Given the description of an element on the screen output the (x, y) to click on. 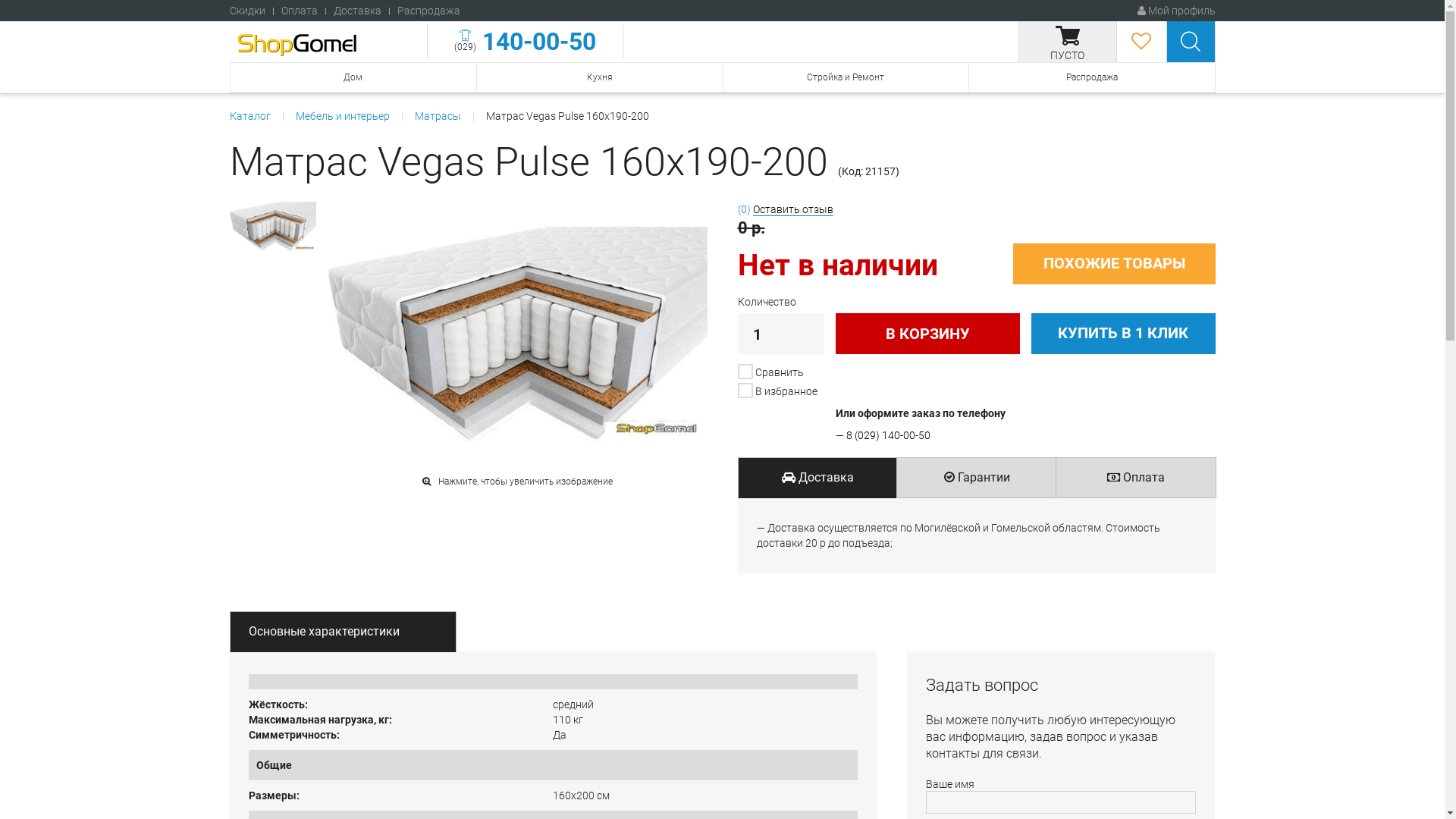
140-00-50 Element type: text (536, 41)
8 (029) 140-00-50 Element type: text (888, 435)
